Given the description of an element on the screen output the (x, y) to click on. 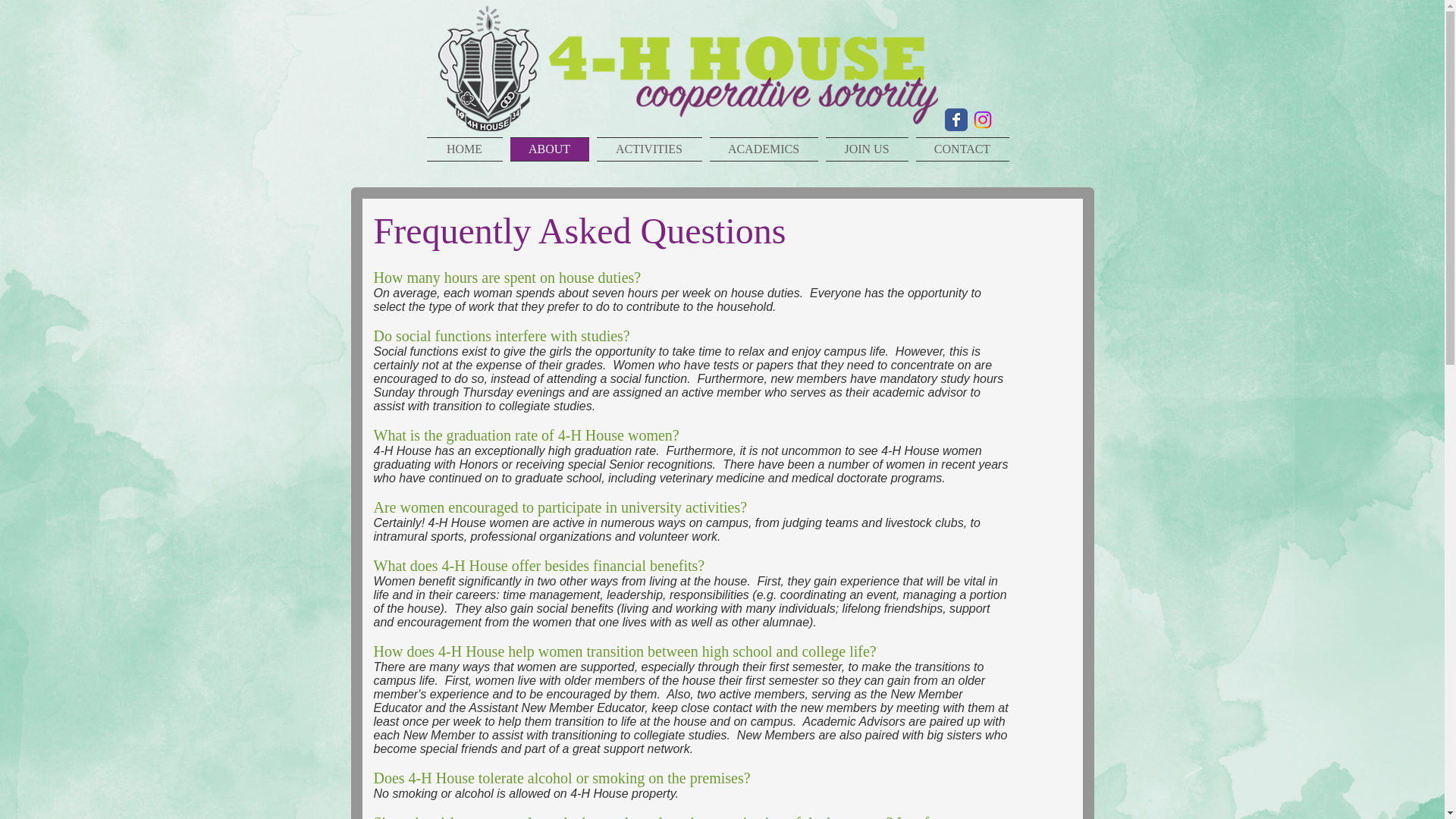
house logo.png (687, 67)
JOIN US (867, 149)
HOME (465, 149)
ACTIVITIES (649, 149)
CONTACT (960, 149)
ABOUT (549, 149)
ACADEMICS (762, 149)
